Given the description of an element on the screen output the (x, y) to click on. 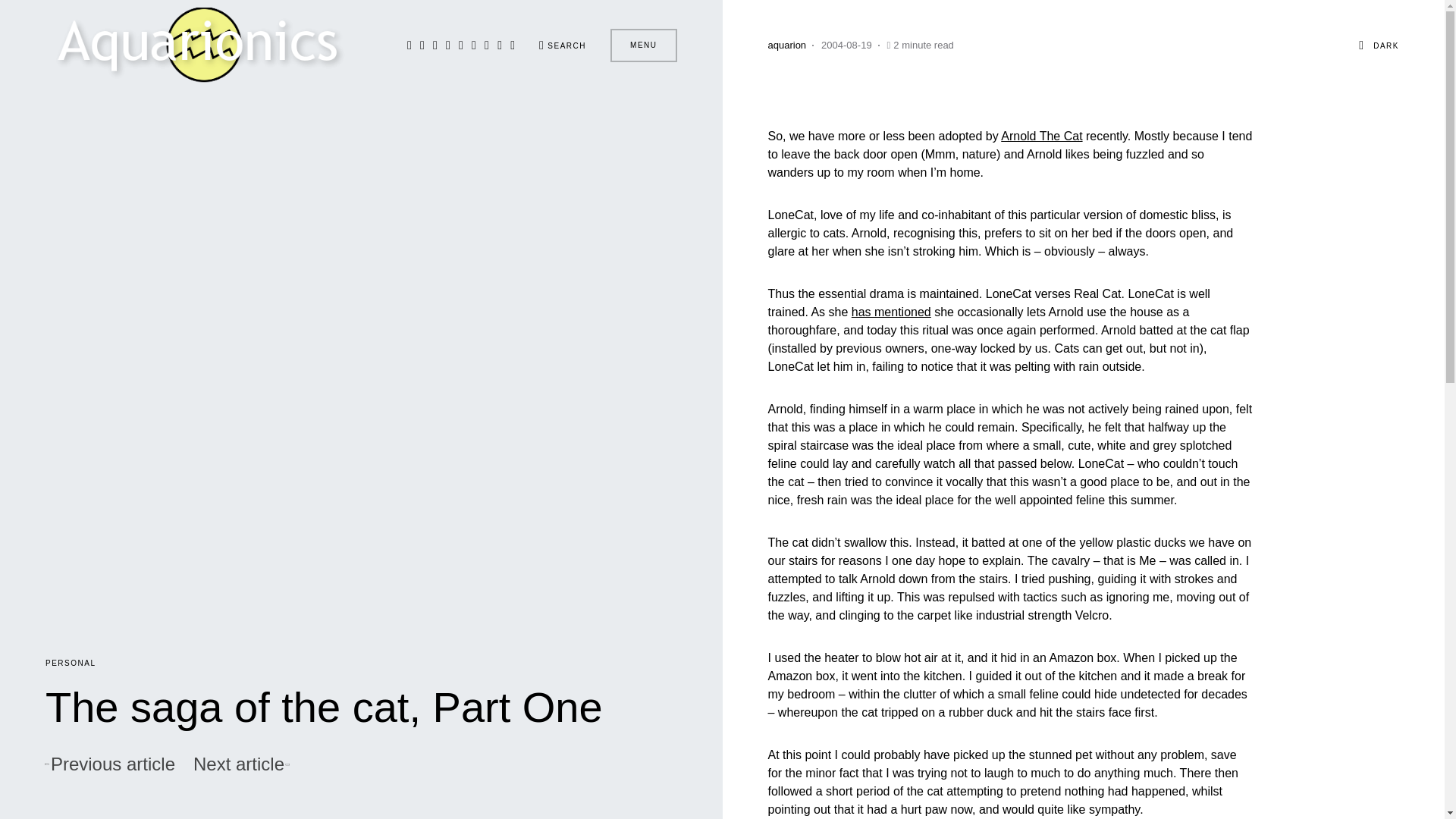
View all posts by aquarion (786, 45)
PERSONAL (70, 663)
Next article (241, 764)
Previous article (109, 764)
